Given the description of an element on the screen output the (x, y) to click on. 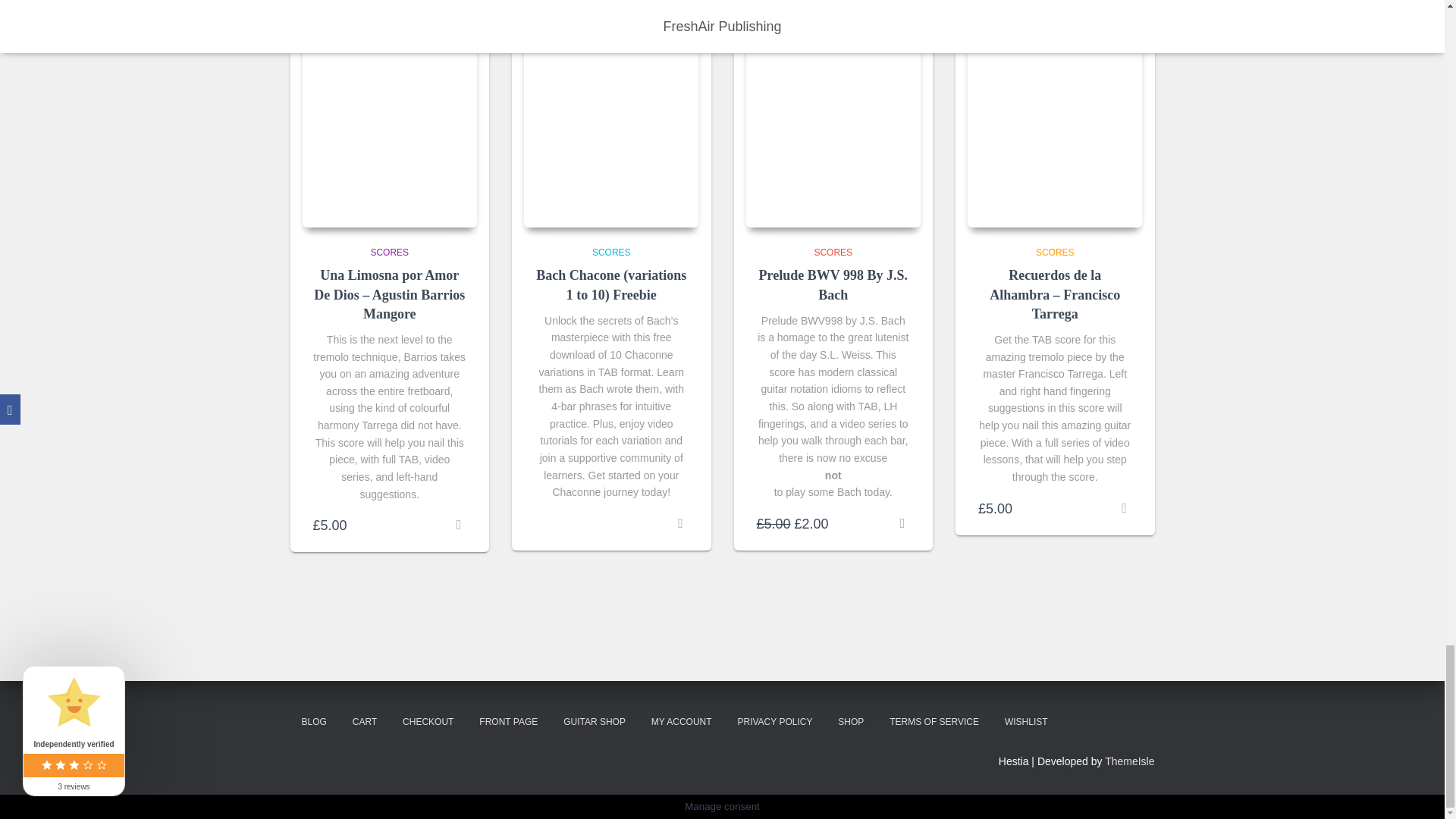
SCORES (389, 252)
Add to cart (458, 525)
SCORES (611, 252)
